Given the description of an element on the screen output the (x, y) to click on. 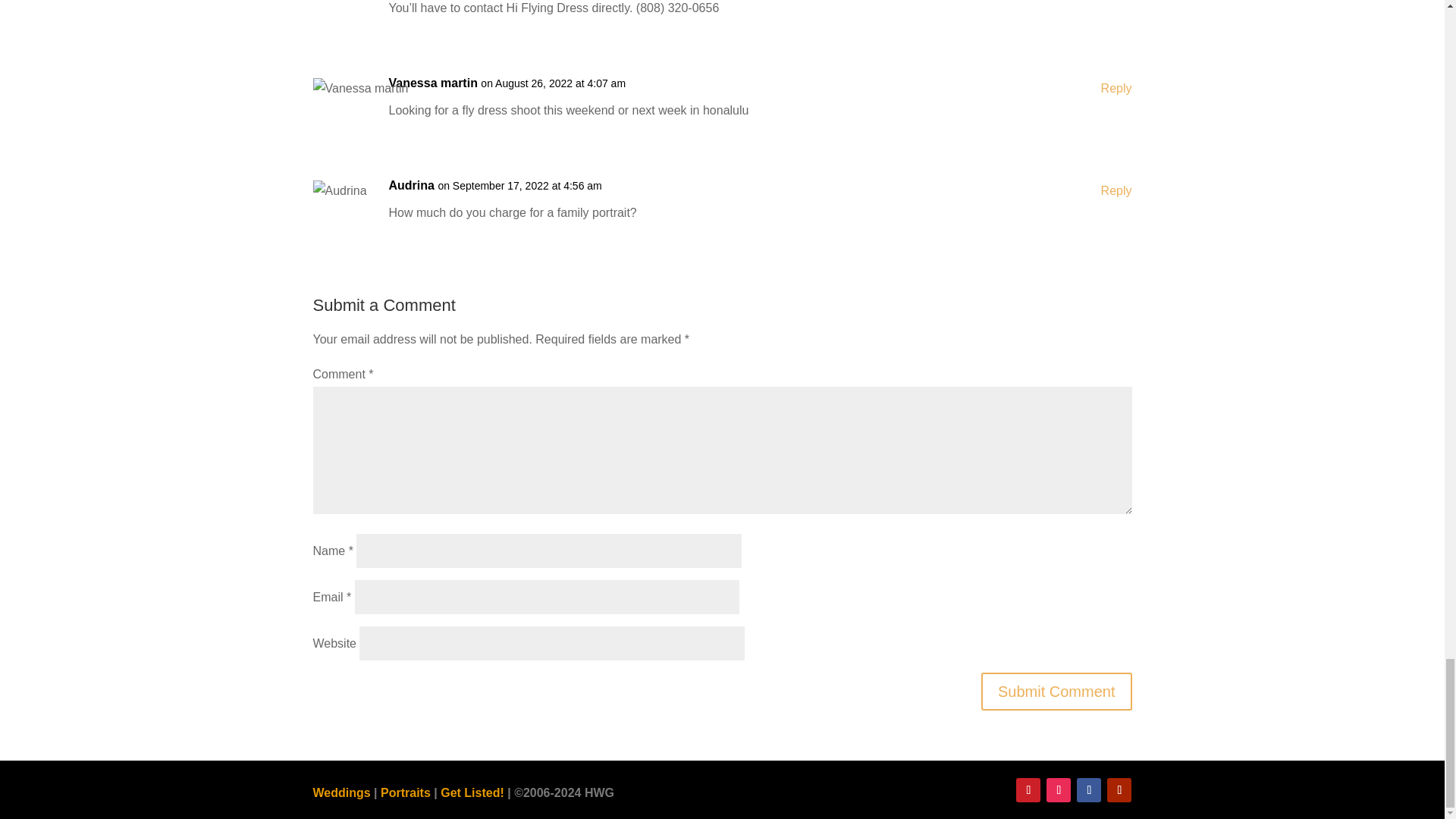
Portraits (405, 792)
Reply (1116, 87)
Get Listed! (472, 792)
Weddings (341, 792)
Submit Comment (1056, 691)
Reply (1116, 190)
Submit Comment (1056, 691)
